Given the description of an element on the screen output the (x, y) to click on. 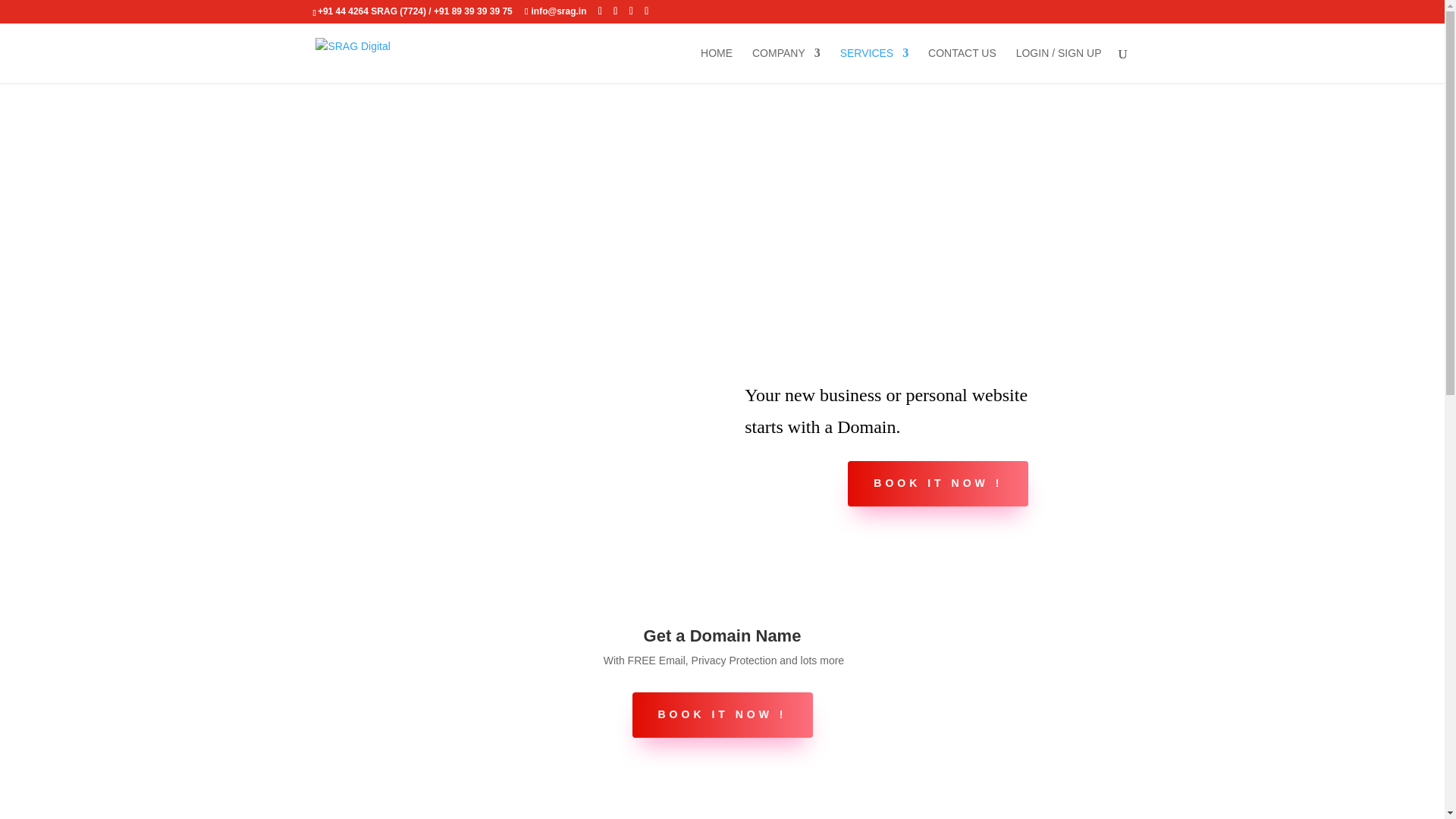
BOOK IT NOW ! (721, 714)
BOOK IT NOW ! (937, 483)
SERVICES (874, 65)
CONTACT US (961, 65)
COMPANY (786, 65)
HOME (716, 65)
